Given the description of an element on the screen output the (x, y) to click on. 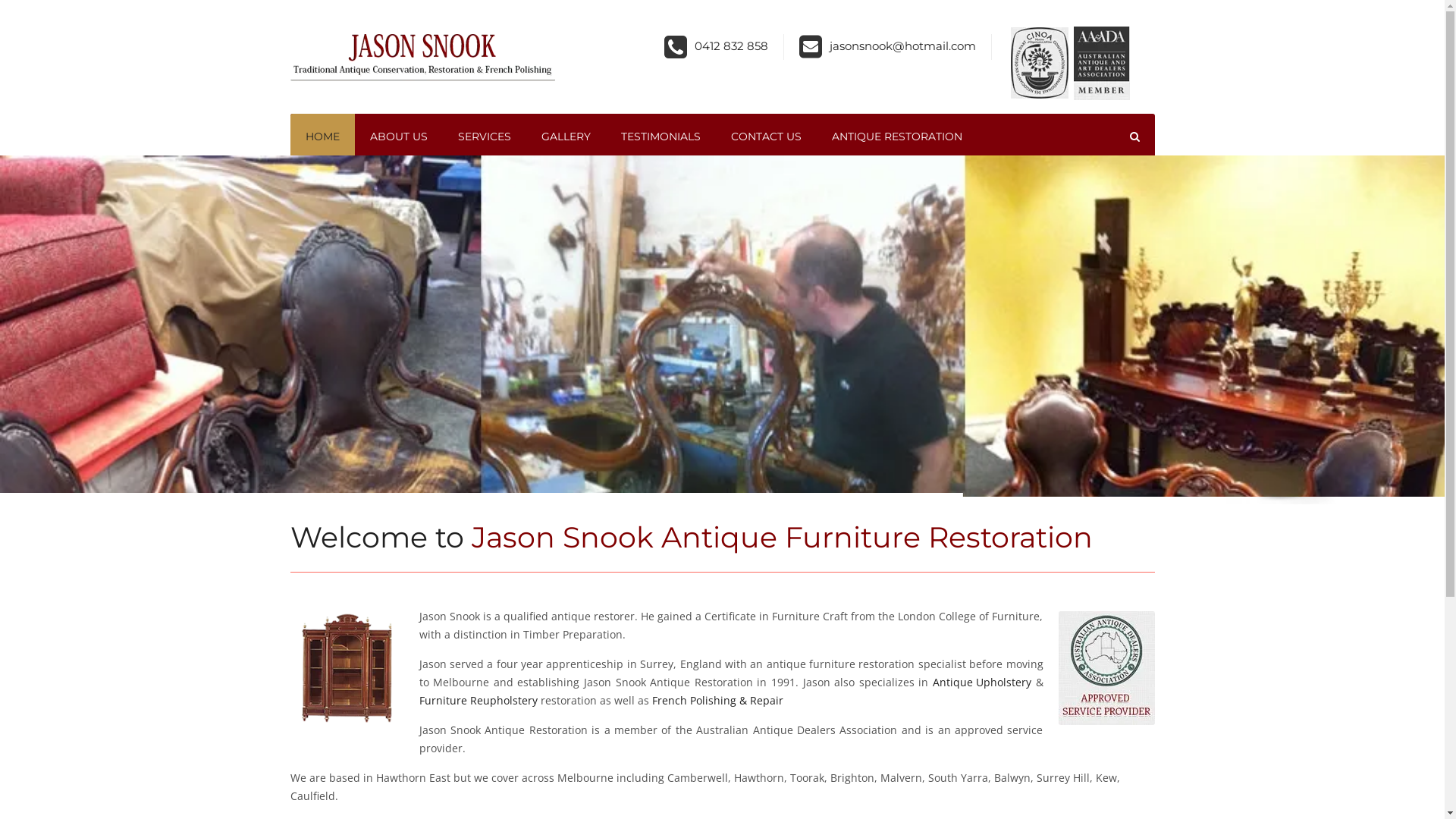
Furniture Reupholstery Element type: text (477, 700)
CONTACT US Element type: text (765, 136)
ANTIQUE RESTORATION Element type: text (895, 136)
GALLERY Element type: text (565, 136)
TESTIMONIALS Element type: text (660, 136)
French Polishing & Repair Element type: text (717, 700)
ABOUT US Element type: text (398, 136)
HOME Element type: text (321, 136)
0412 832 858 Element type: text (731, 45)
jasonsnook@hotmail.com Element type: text (902, 45)
SERVICES Element type: text (484, 136)
Antique Upholstery Element type: text (981, 682)
